Given the description of an element on the screen output the (x, y) to click on. 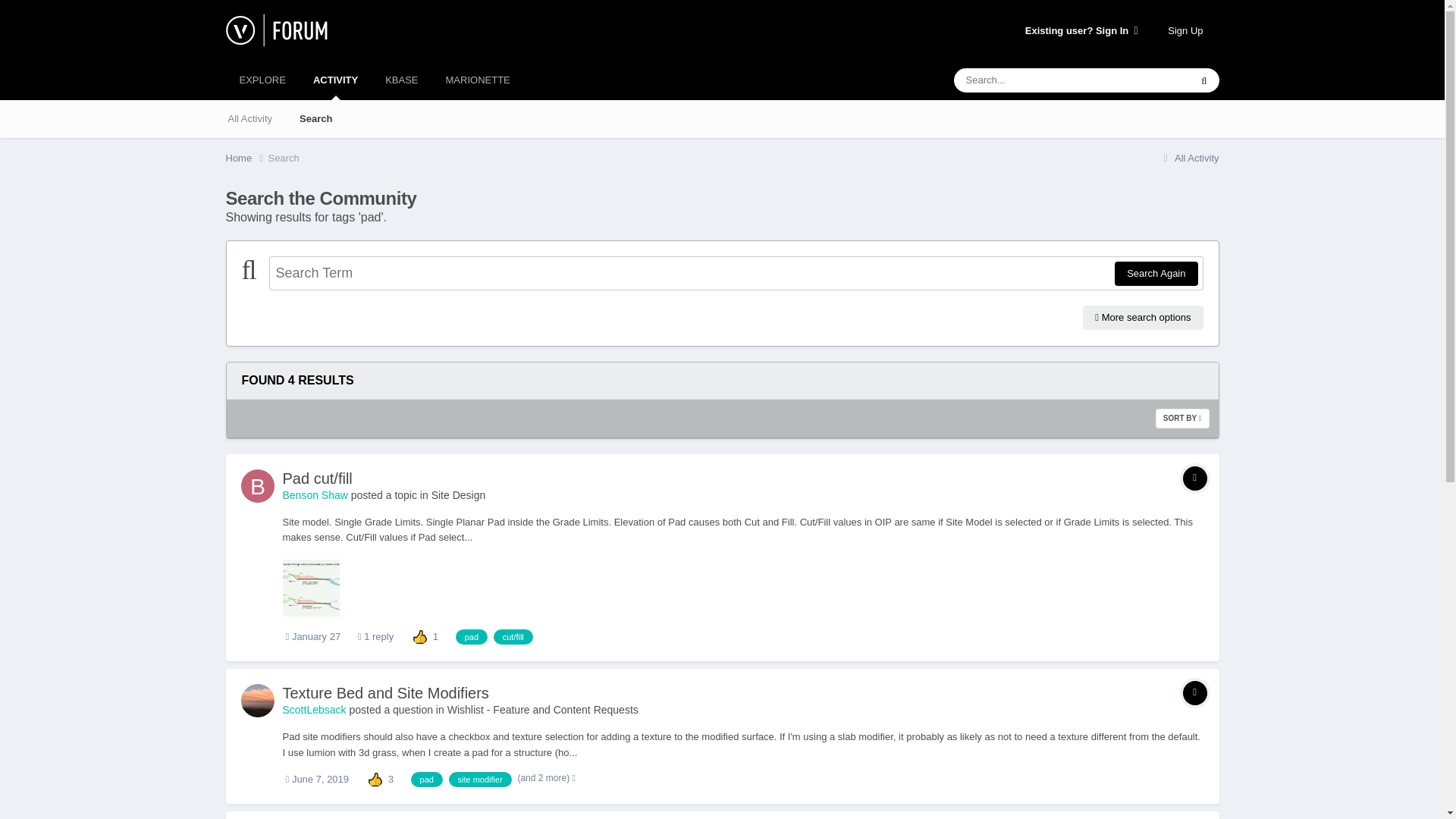
Go to ScottLebsack's profile (258, 700)
Go to Benson Shaw's profile (258, 485)
Search Again (1155, 273)
ACTIVITY (335, 79)
Find other content tagged with 'site modifier' (480, 779)
KBASE (400, 79)
Like (375, 778)
More search options (1142, 317)
Search (315, 118)
EXPLORE (262, 79)
